Given the description of an element on the screen output the (x, y) to click on. 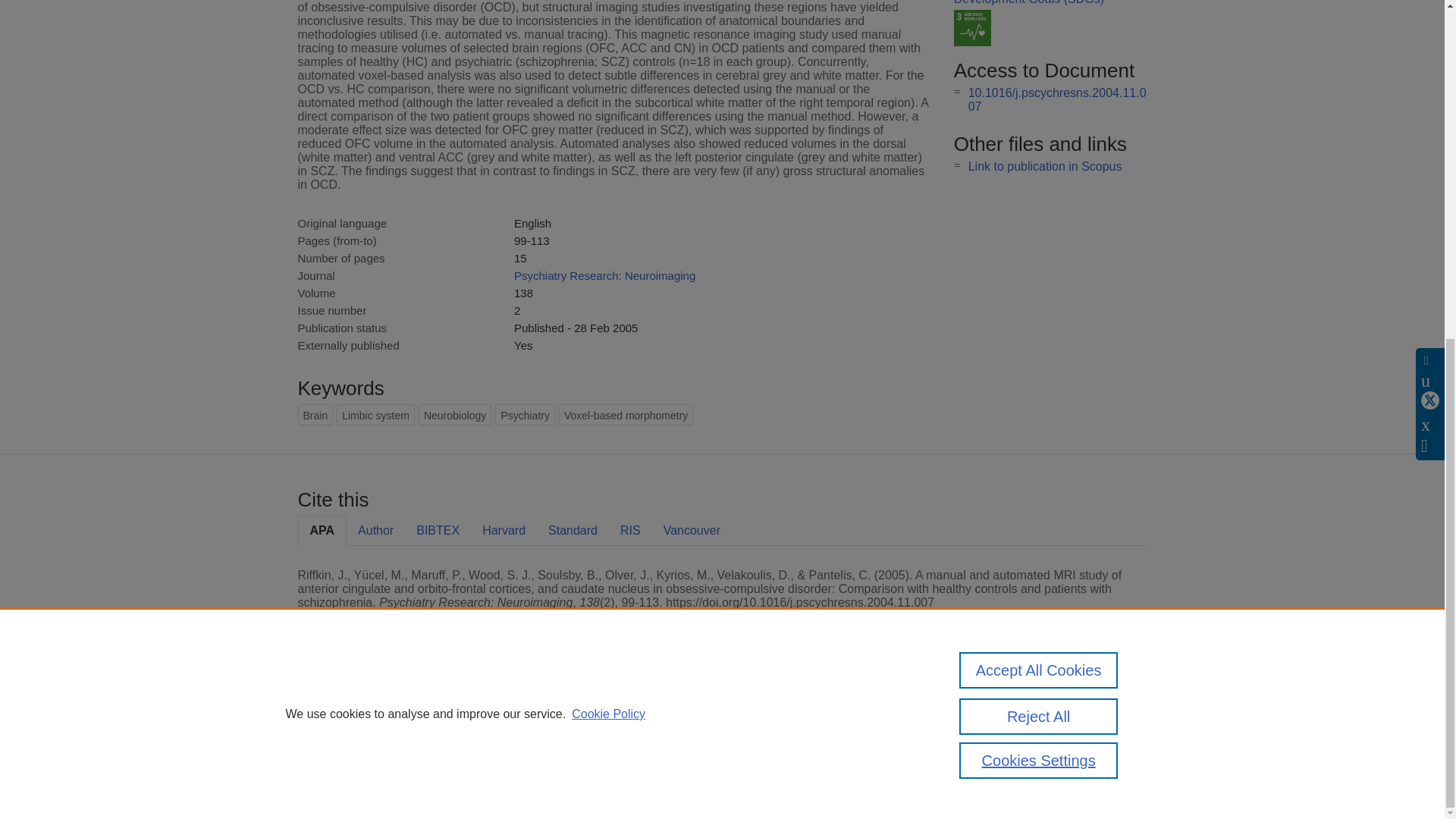
Psychiatry Research: Neuroimaging (604, 275)
Pure (362, 708)
Elsevier B.V. (506, 728)
Monash University data protection policy (1009, 713)
Scopus (394, 708)
SDG 3 - Good Health and Well-being (972, 27)
About web accessibility (1008, 740)
Link to publication in Scopus (1045, 165)
Cookies Settings (1038, 187)
Cookie Policy (608, 141)
Contact us (1123, 713)
Cookies Settings (334, 781)
Report vulnerability (1000, 760)
use of cookies (796, 760)
